Given the description of an element on the screen output the (x, y) to click on. 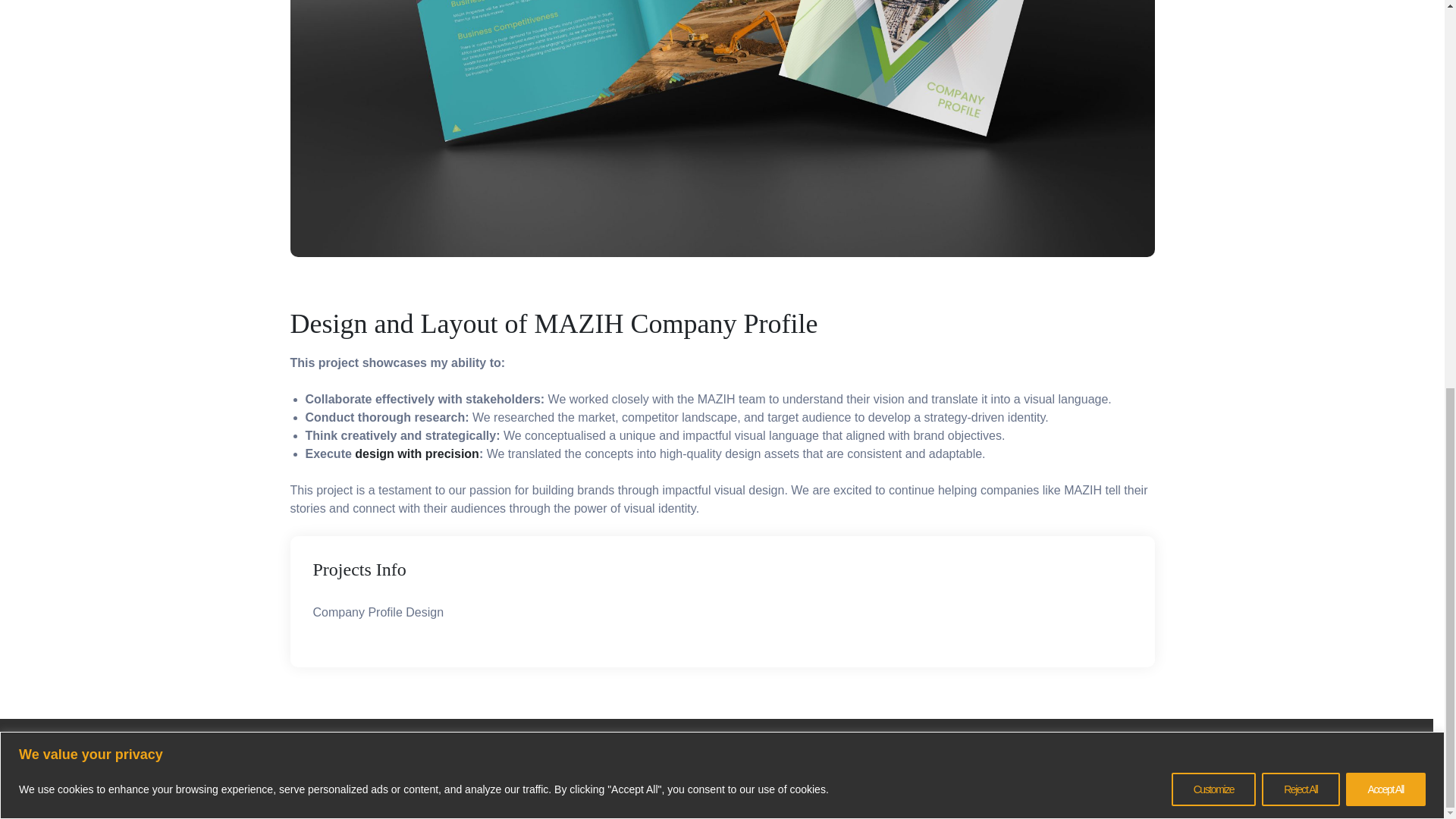
Company Profile Design (719, 323)
Reject All (1300, 52)
Why Your Business Needs a Well-Designed Company Profile (417, 453)
Customize (1214, 52)
Accept All (1385, 52)
